Given the description of an element on the screen output the (x, y) to click on. 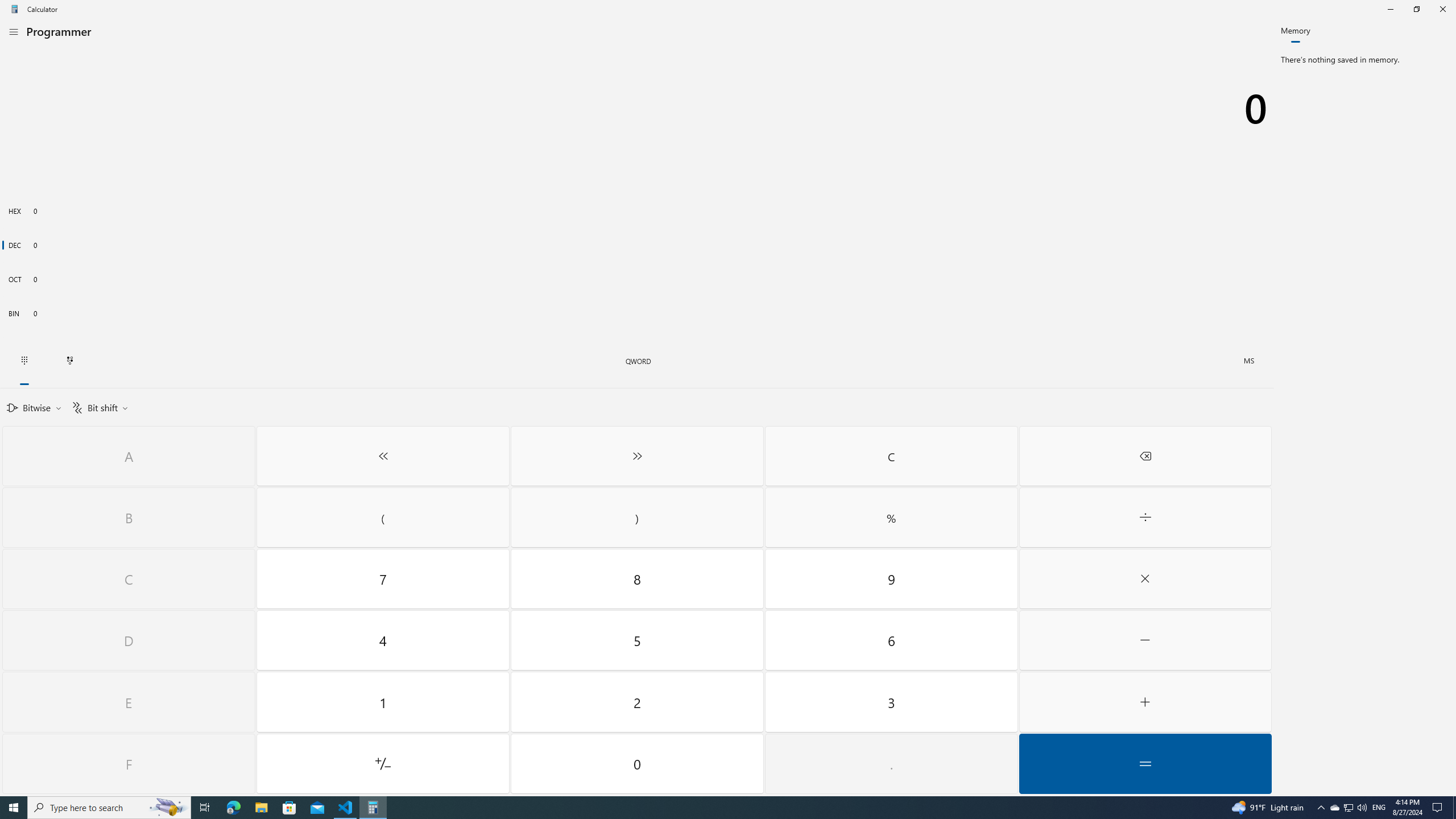
Quadruple Word toggle (638, 360)
Microsoft Edge (233, 807)
Equals (1145, 763)
Minus (1145, 640)
A (128, 455)
Q2790: 100% (1361, 807)
Four (382, 640)
Close Calculator (1442, 9)
Right parenthesis (637, 517)
Running applications (706, 807)
Memory store (1249, 360)
Task View (204, 807)
Two (637, 701)
